Given the description of an element on the screen output the (x, y) to click on. 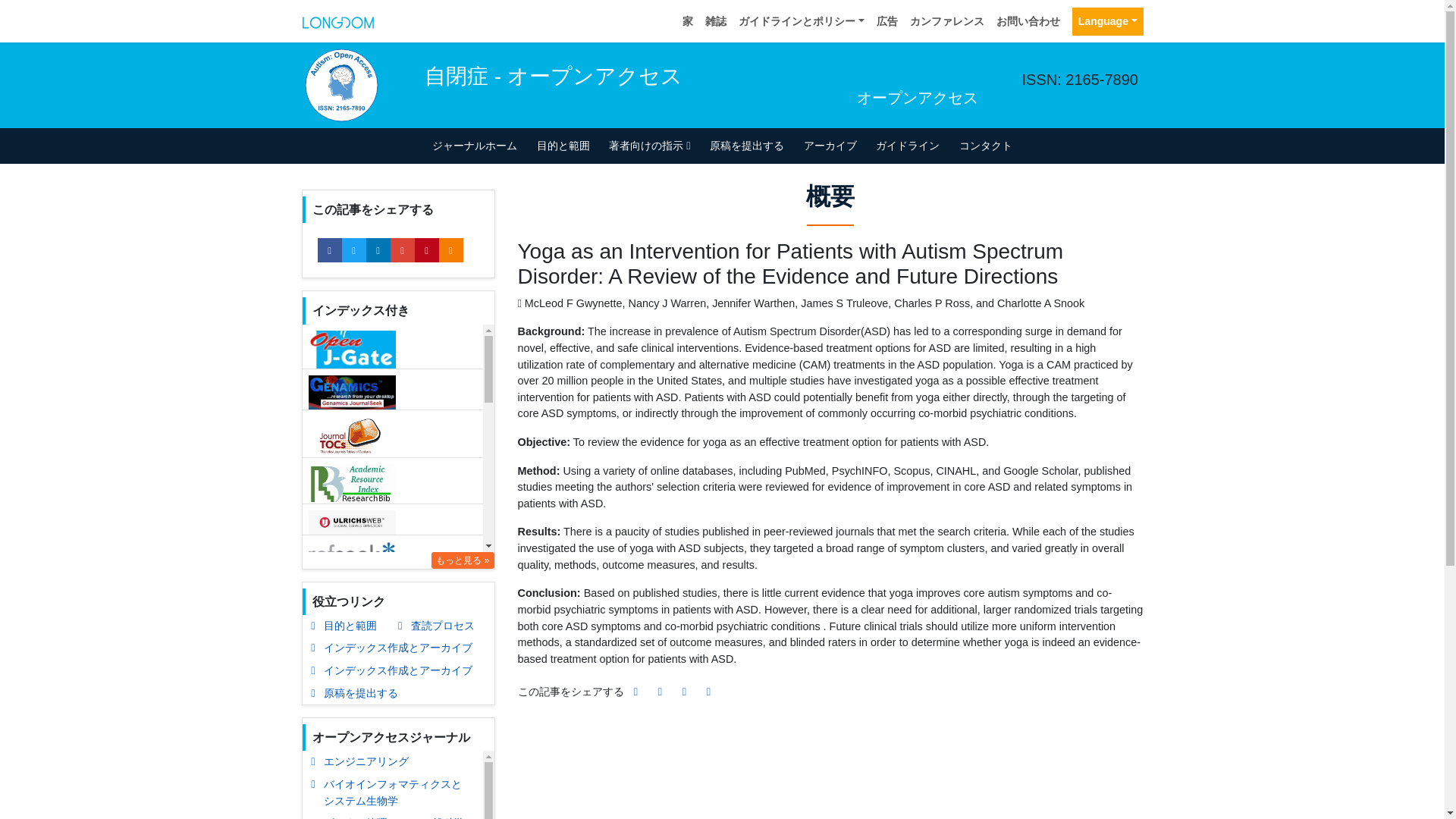
Language (1106, 21)
